Given the description of an element on the screen output the (x, y) to click on. 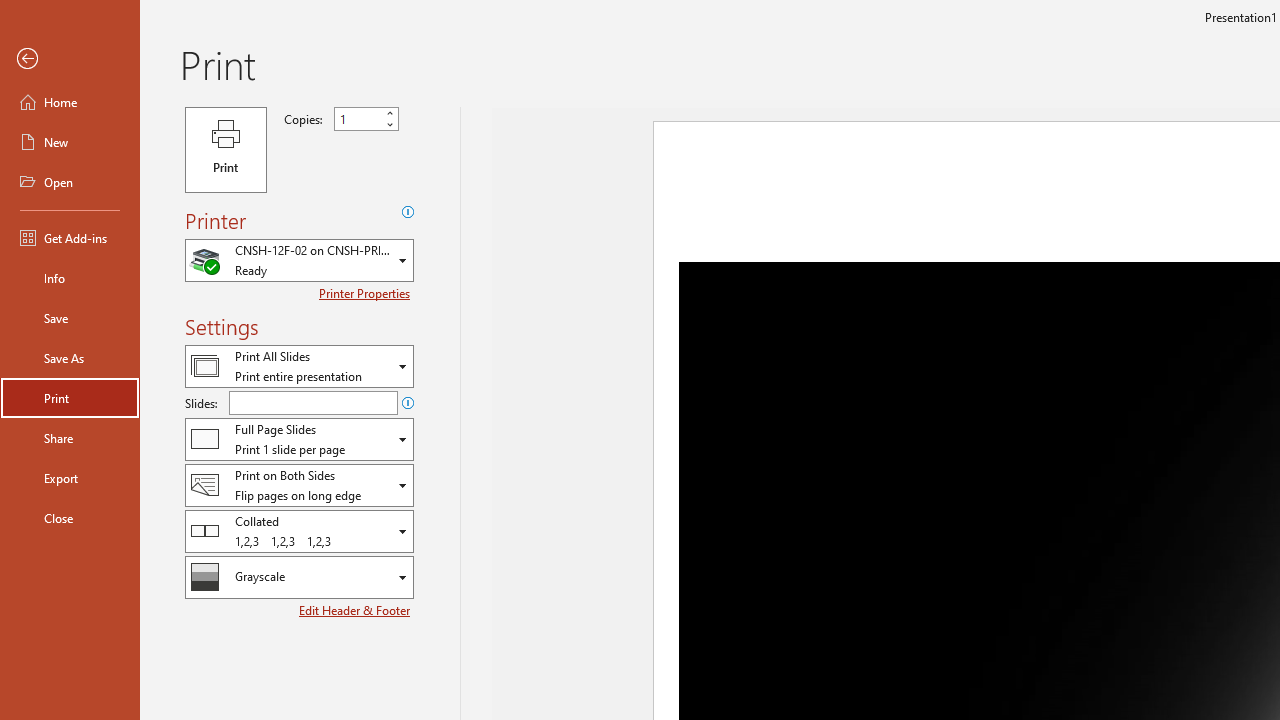
Home (69, 101)
Two-Sided Printing (299, 484)
Get Add-ins (69, 237)
Less (389, 124)
Slides and Handouts (299, 439)
New (69, 141)
Print What (299, 366)
Info (69, 277)
Edit Header & Footer (356, 610)
Copies (366, 119)
Open (403, 577)
Back (69, 59)
Print (226, 149)
Which Printer (299, 260)
Close (69, 517)
